Given the description of an element on the screen output the (x, y) to click on. 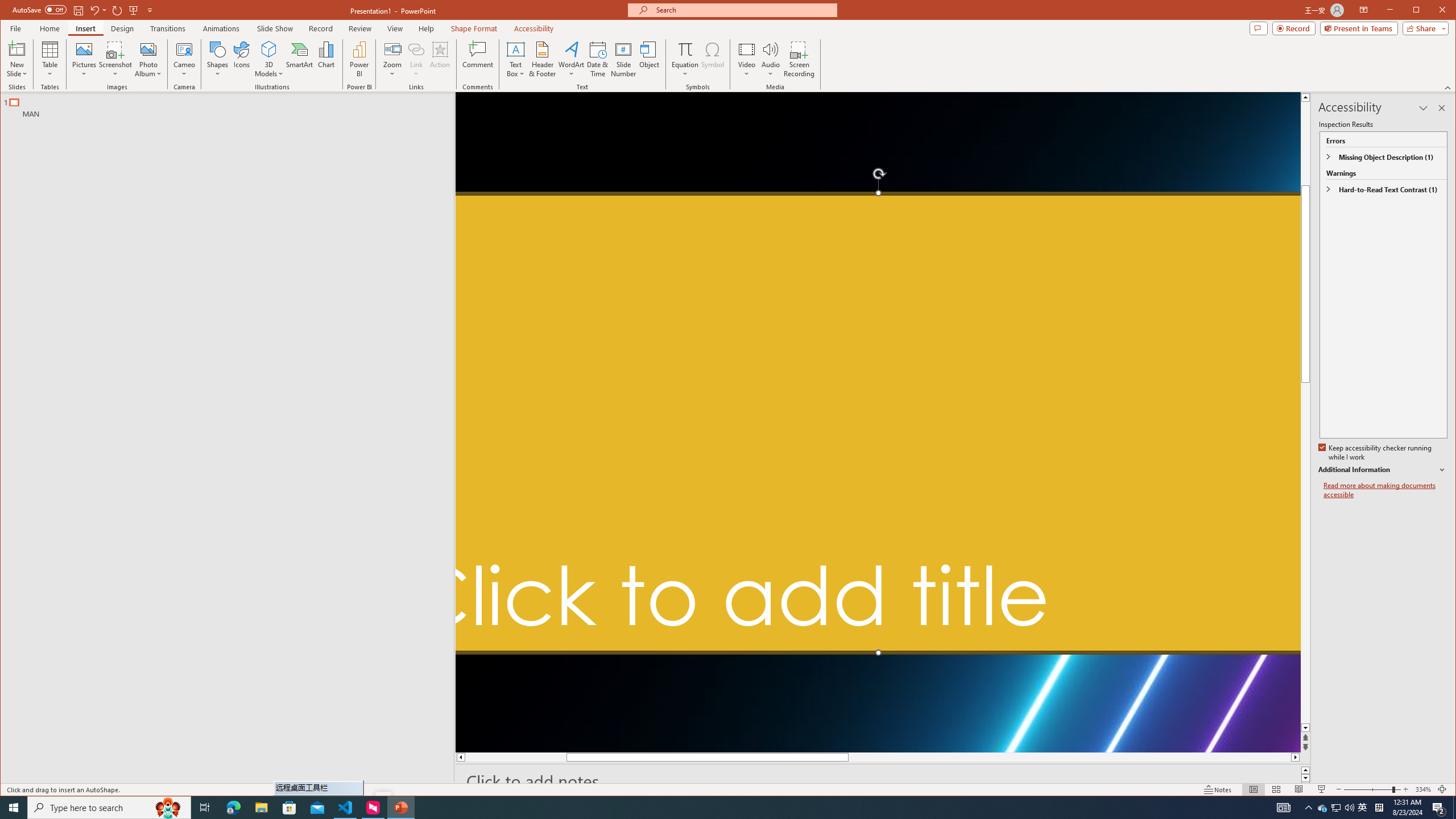
Comment (478, 59)
Date & Time... (597, 59)
Power BI (359, 59)
